Given the description of an element on the screen output the (x, y) to click on. 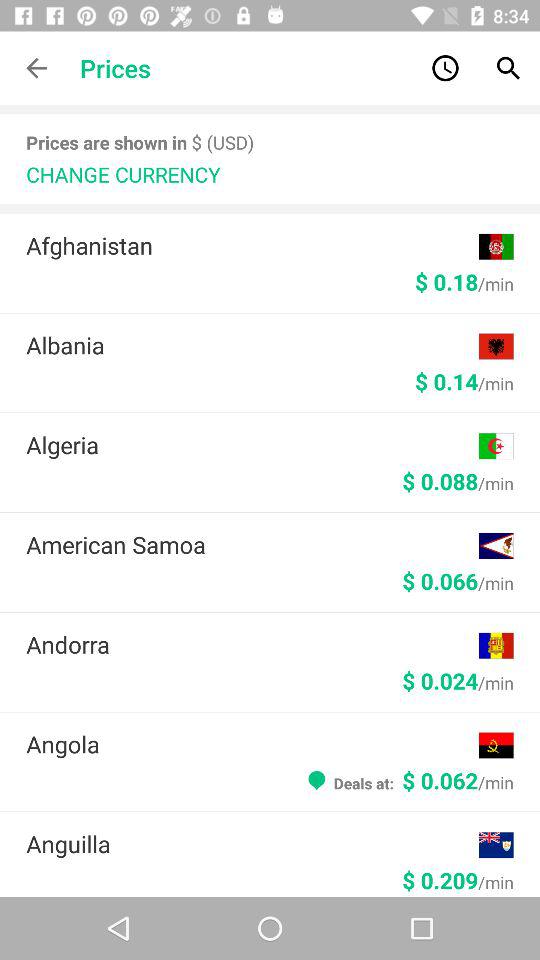
tap andorra (252, 644)
